Given the description of an element on the screen output the (x, y) to click on. 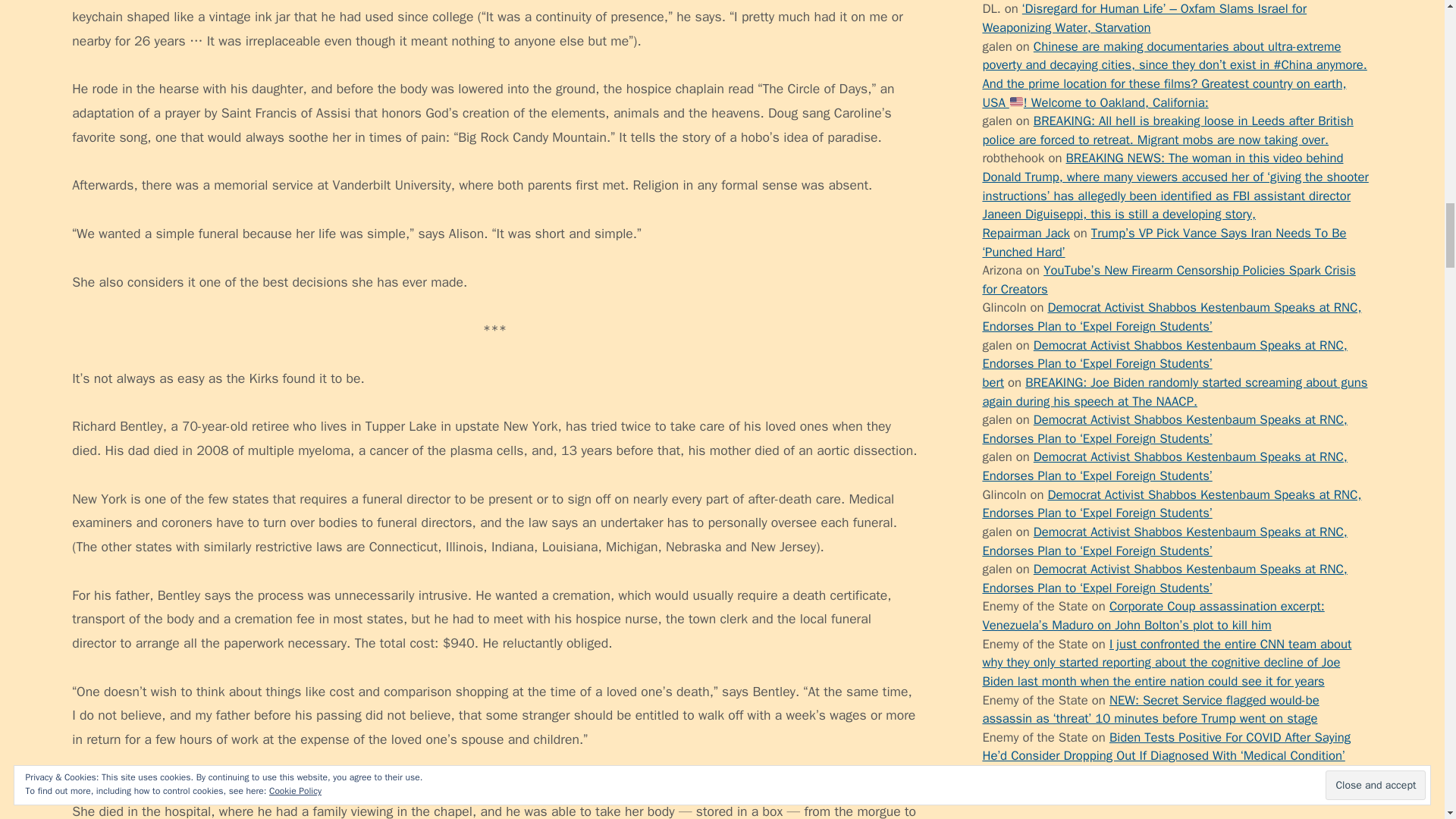
porno (997, 45)
